Given the description of an element on the screen output the (x, y) to click on. 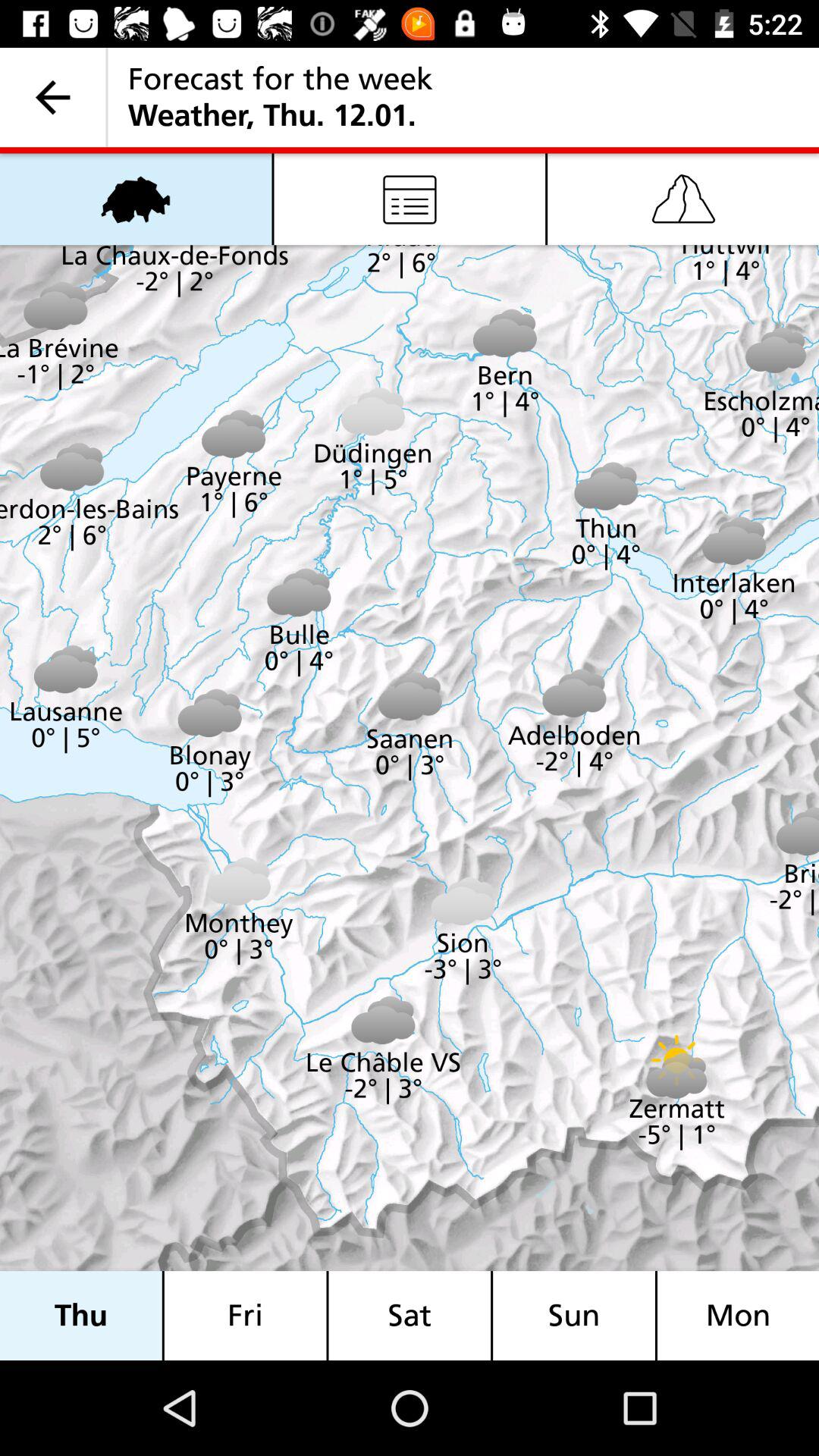
turn on the item next to sat (245, 1315)
